Given the description of an element on the screen output the (x, y) to click on. 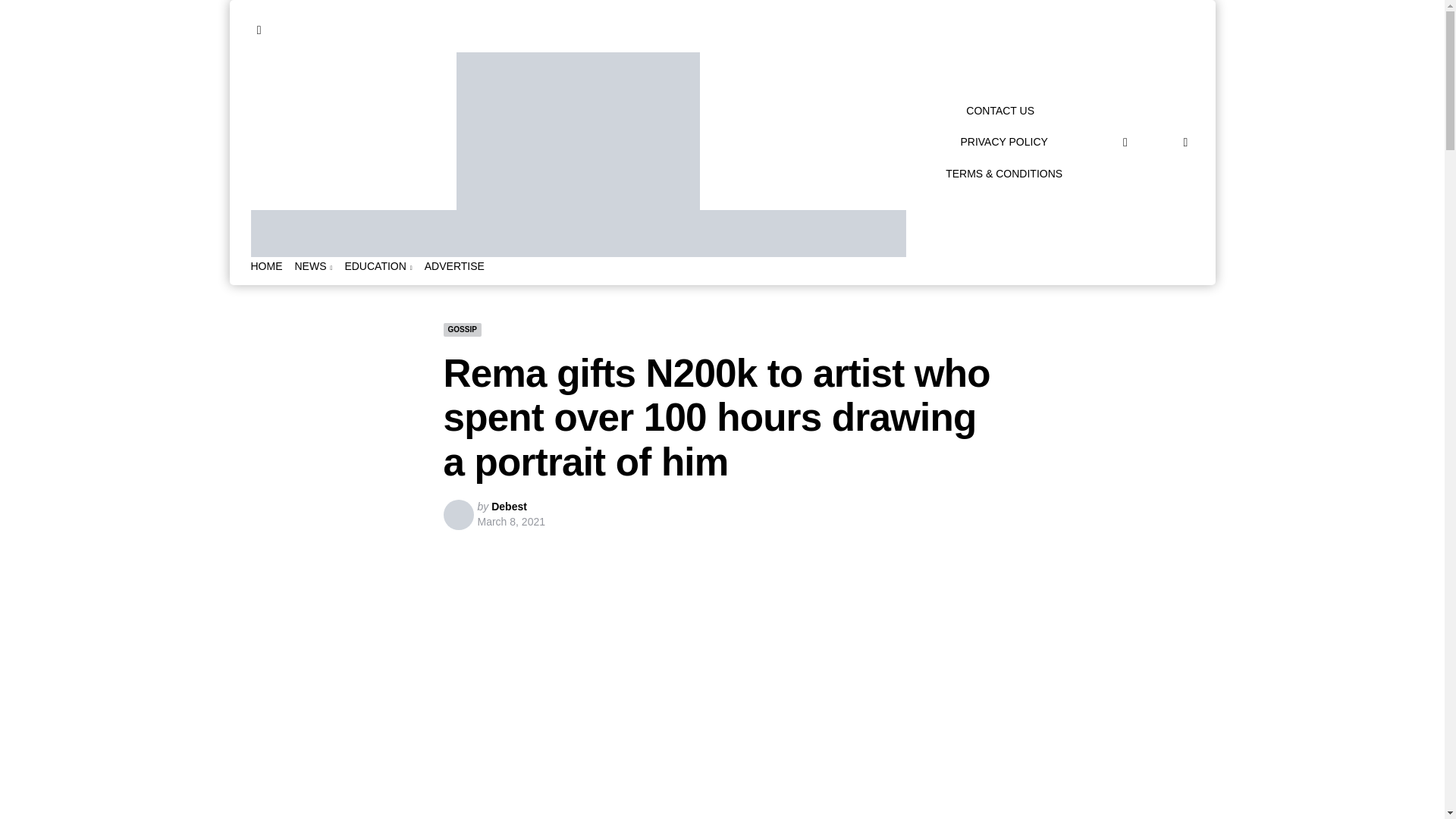
EDUCATION (377, 266)
PRIVACY POLICY (1002, 141)
HOME (266, 266)
ADVERTISE (454, 266)
CONTACT US (999, 110)
NEWS (312, 266)
